Given the description of an element on the screen output the (x, y) to click on. 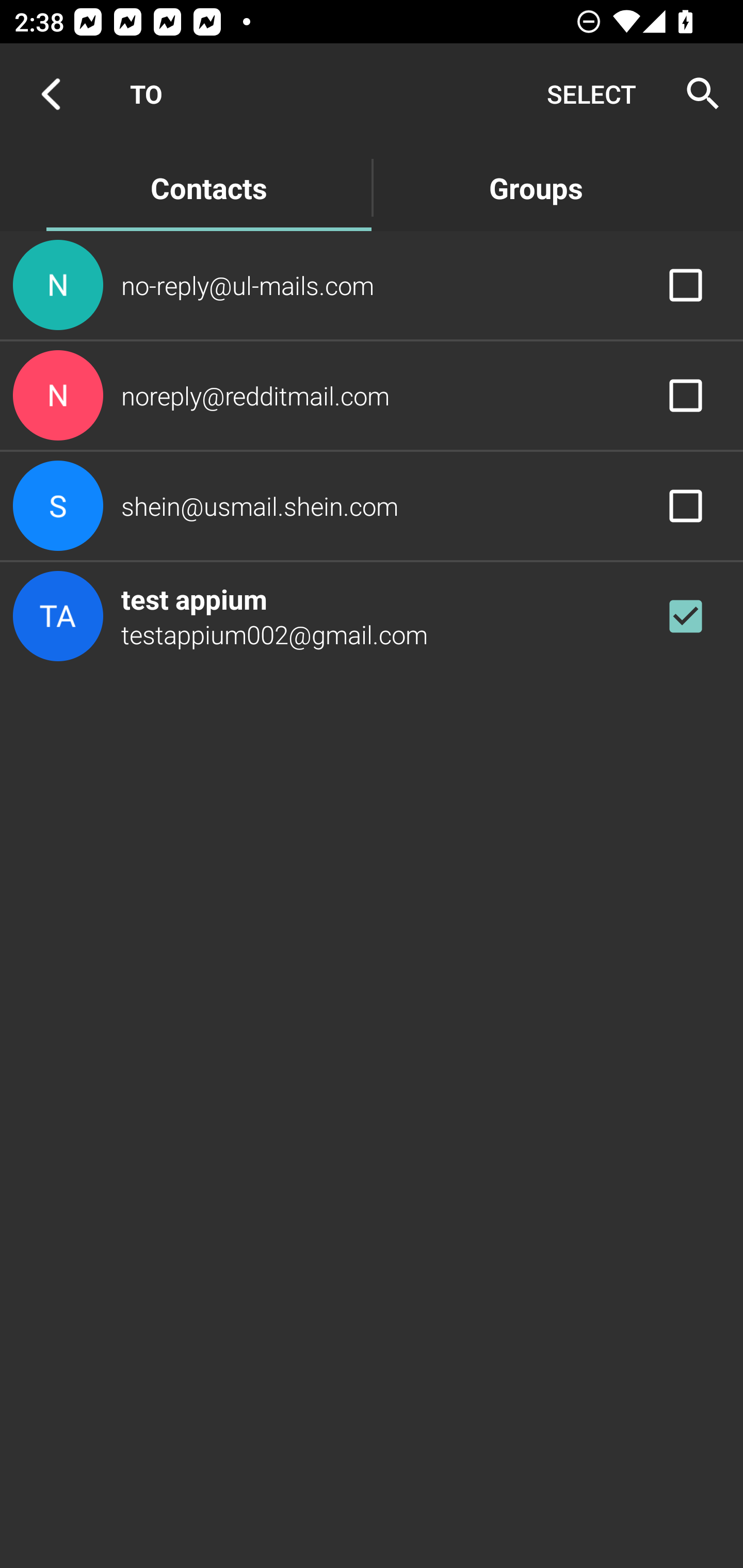
Navigate up (50, 93)
SELECT (590, 93)
Search (696, 93)
Contacts (208, 187)
Groups (535, 187)
no-reply@ul-mails.com (371, 284)
noreply@redditmail.com (371, 395)
shein@usmail.shein.com (371, 505)
test appium testappium002@gmail.com (371, 616)
